Given the description of an element on the screen output the (x, y) to click on. 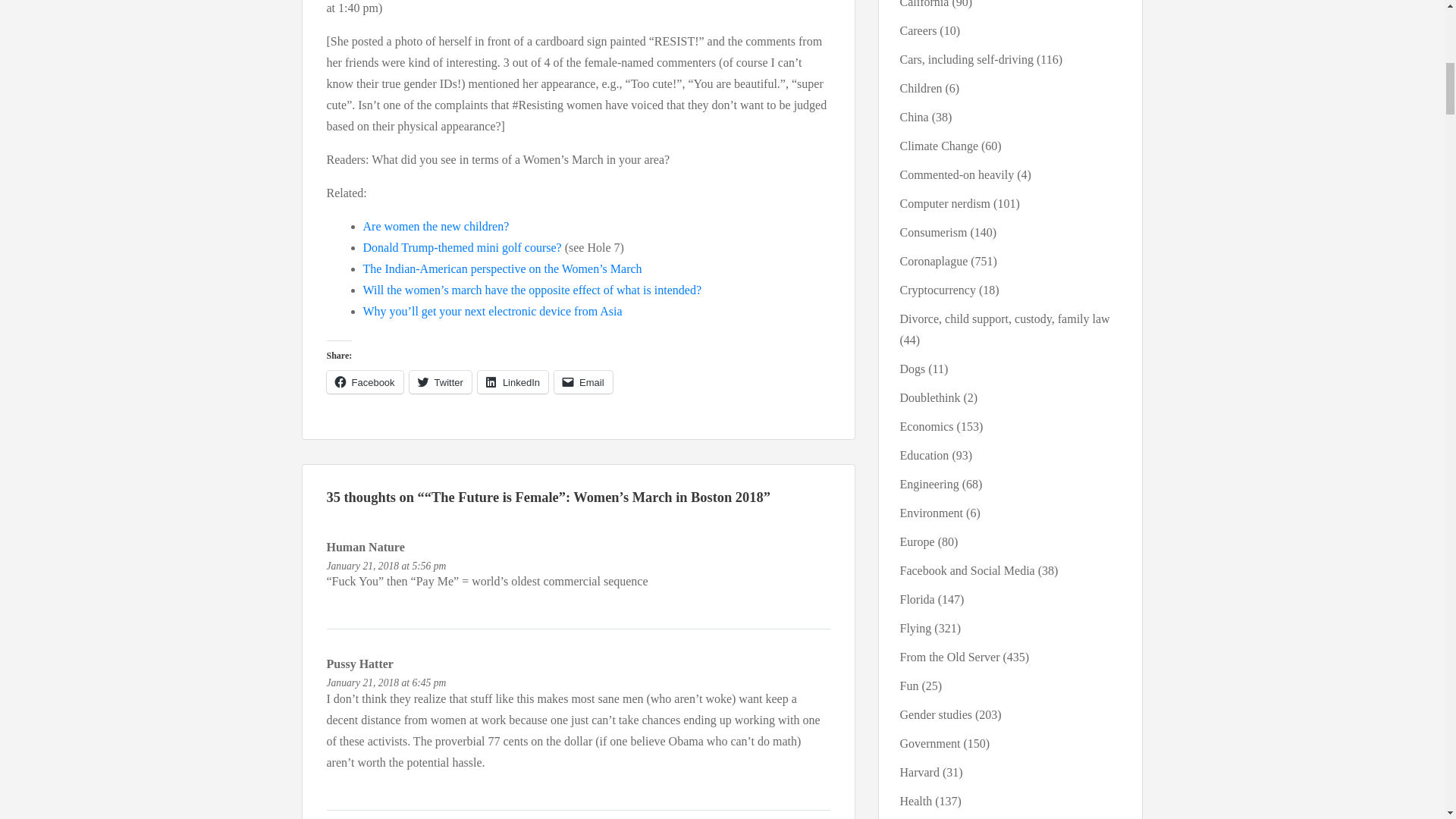
Click to email a link to a friend (583, 382)
Are women the new children? (435, 226)
Facebook (364, 382)
Email (583, 382)
LinkedIn (512, 382)
January 21, 2018 at 5:56 pm (385, 565)
Twitter (440, 382)
Click to share on LinkedIn (512, 382)
Click to share on Facebook (364, 382)
January 21, 2018 at 6:45 pm (385, 682)
Click to share on Twitter (440, 382)
Donald Trump-themed mini golf course? (461, 246)
